Given the description of an element on the screen output the (x, y) to click on. 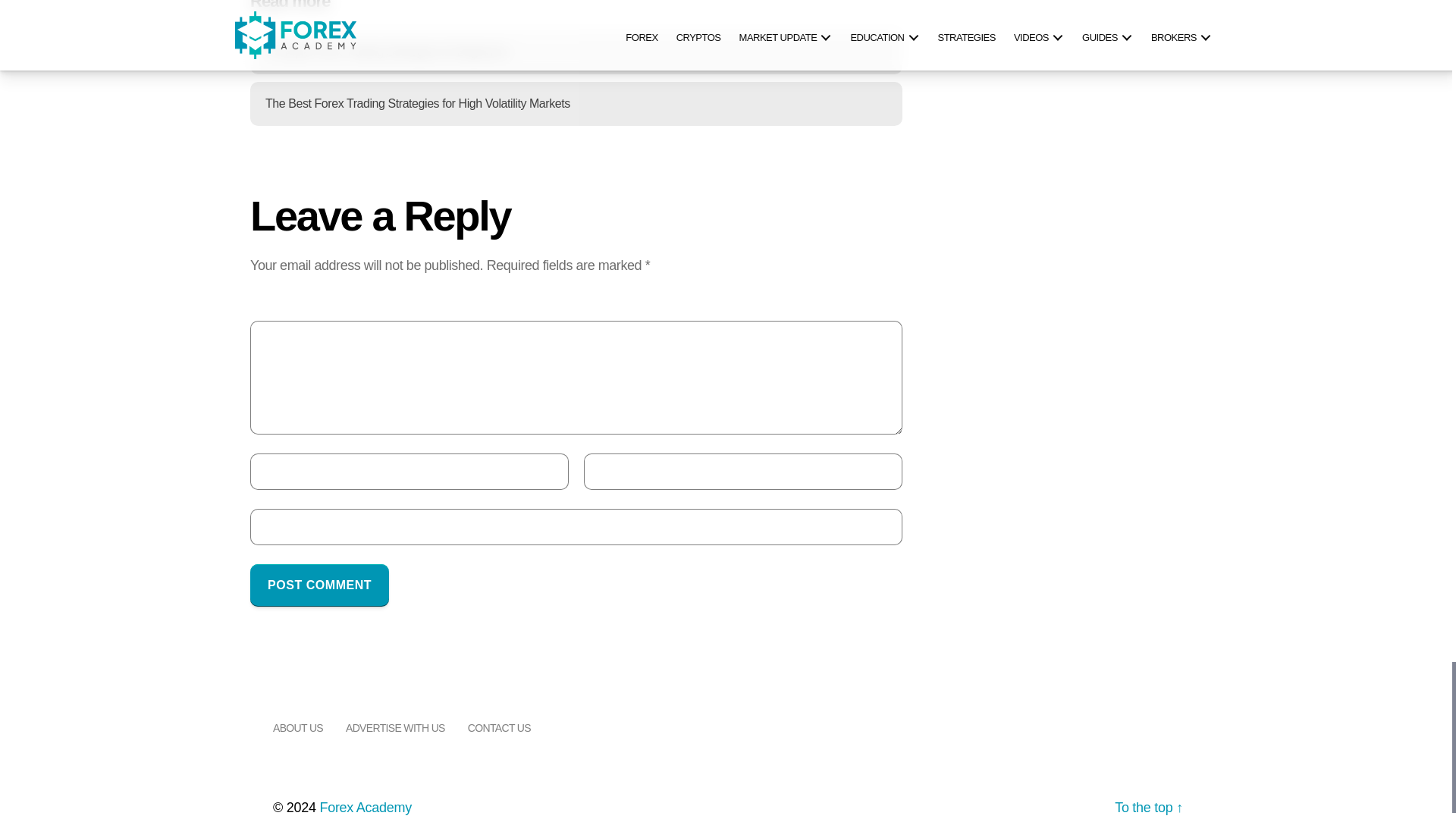
Post Comment (319, 585)
